Given the description of an element on the screen output the (x, y) to click on. 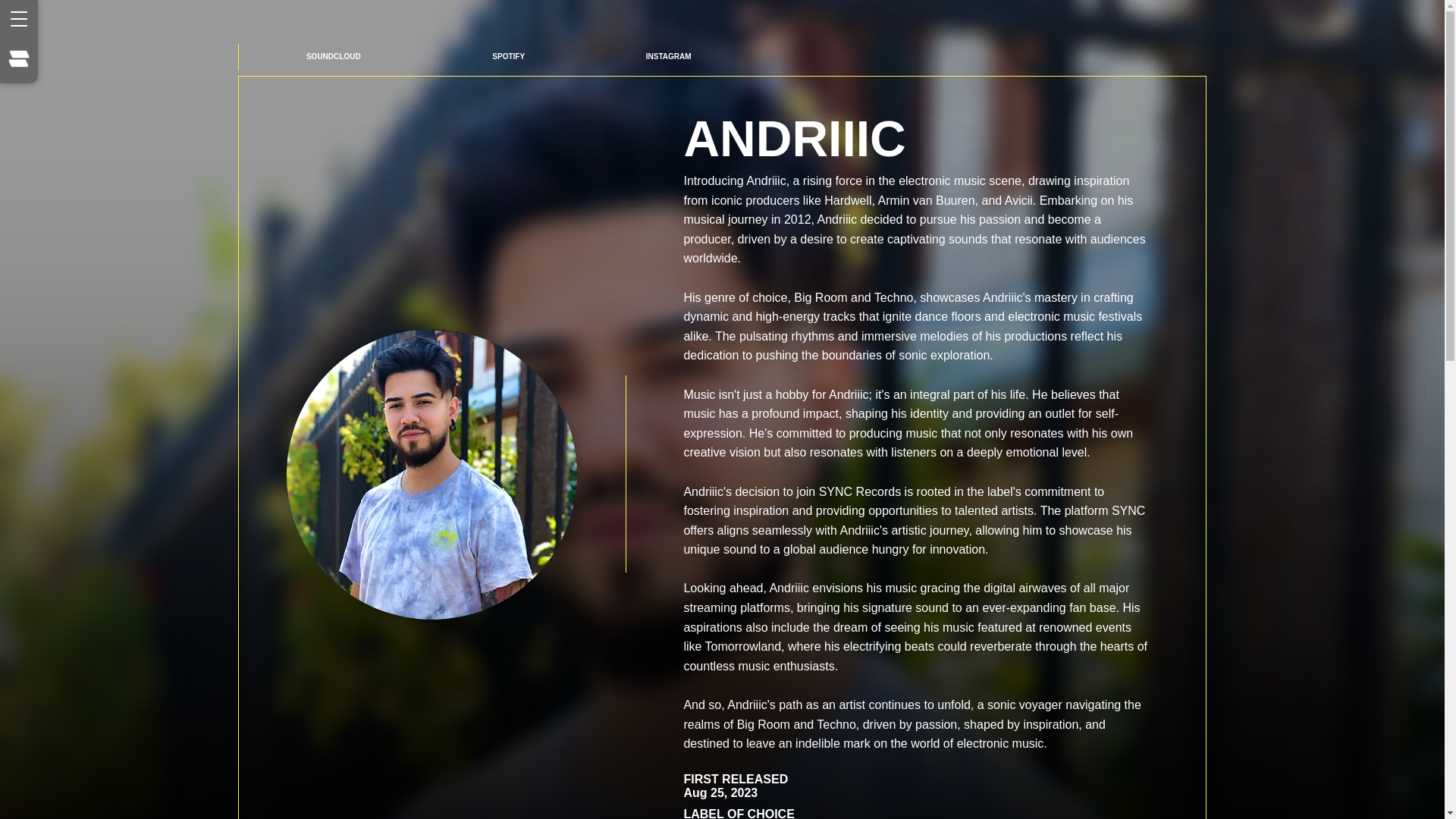
INSTAGRAM (668, 56)
SOUNDCLOUD (333, 56)
SPOTIFY (508, 56)
